Given the description of an element on the screen output the (x, y) to click on. 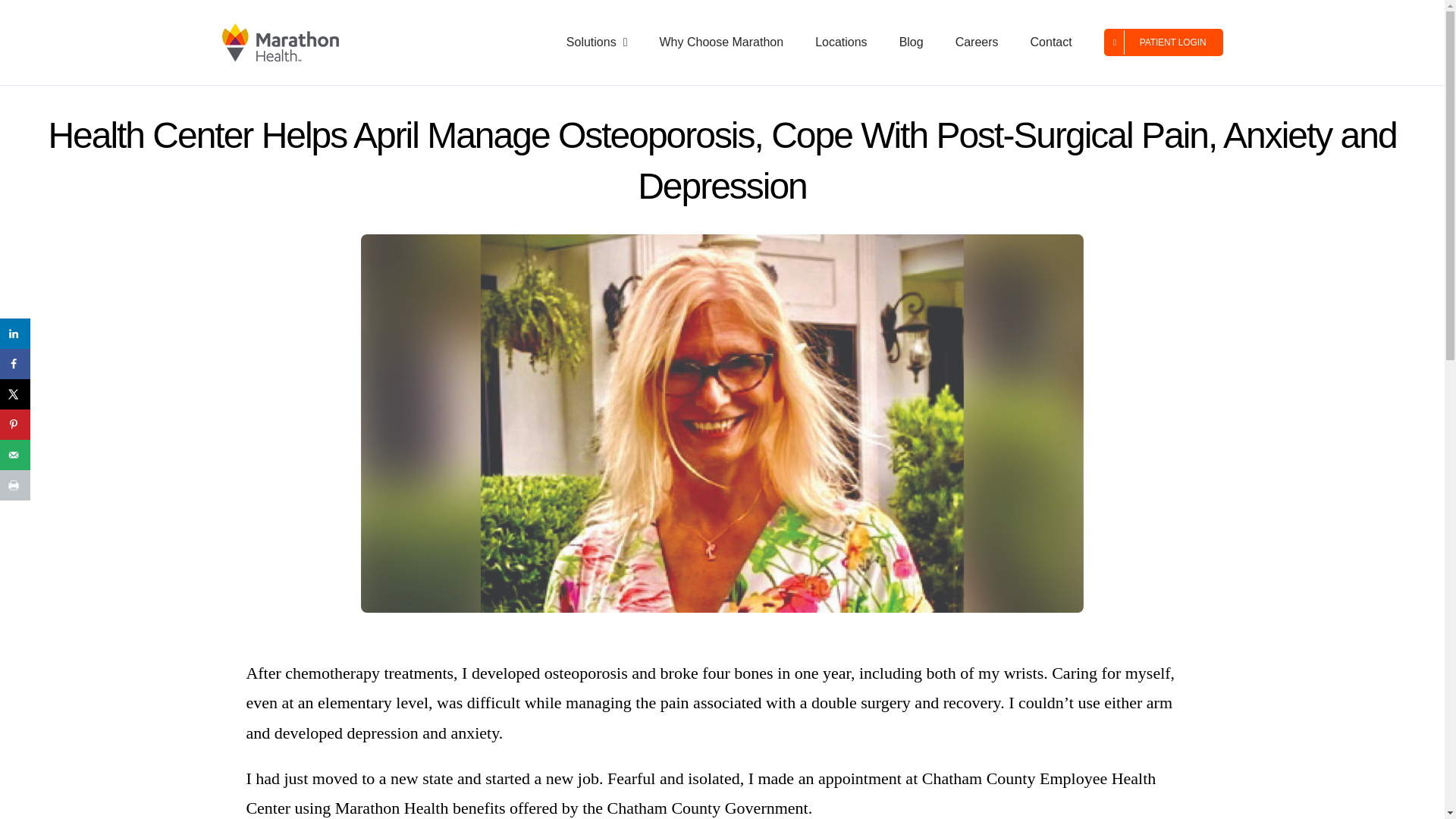
Send over email (15, 454)
Share on Facebook (15, 363)
Save to Pinterest (15, 424)
Print this webpage (15, 485)
Share on X (15, 394)
Share on LinkedIn (15, 333)
Why Choose Marathon (721, 42)
PATIENT LOGIN (1163, 42)
